Given the description of an element on the screen output the (x, y) to click on. 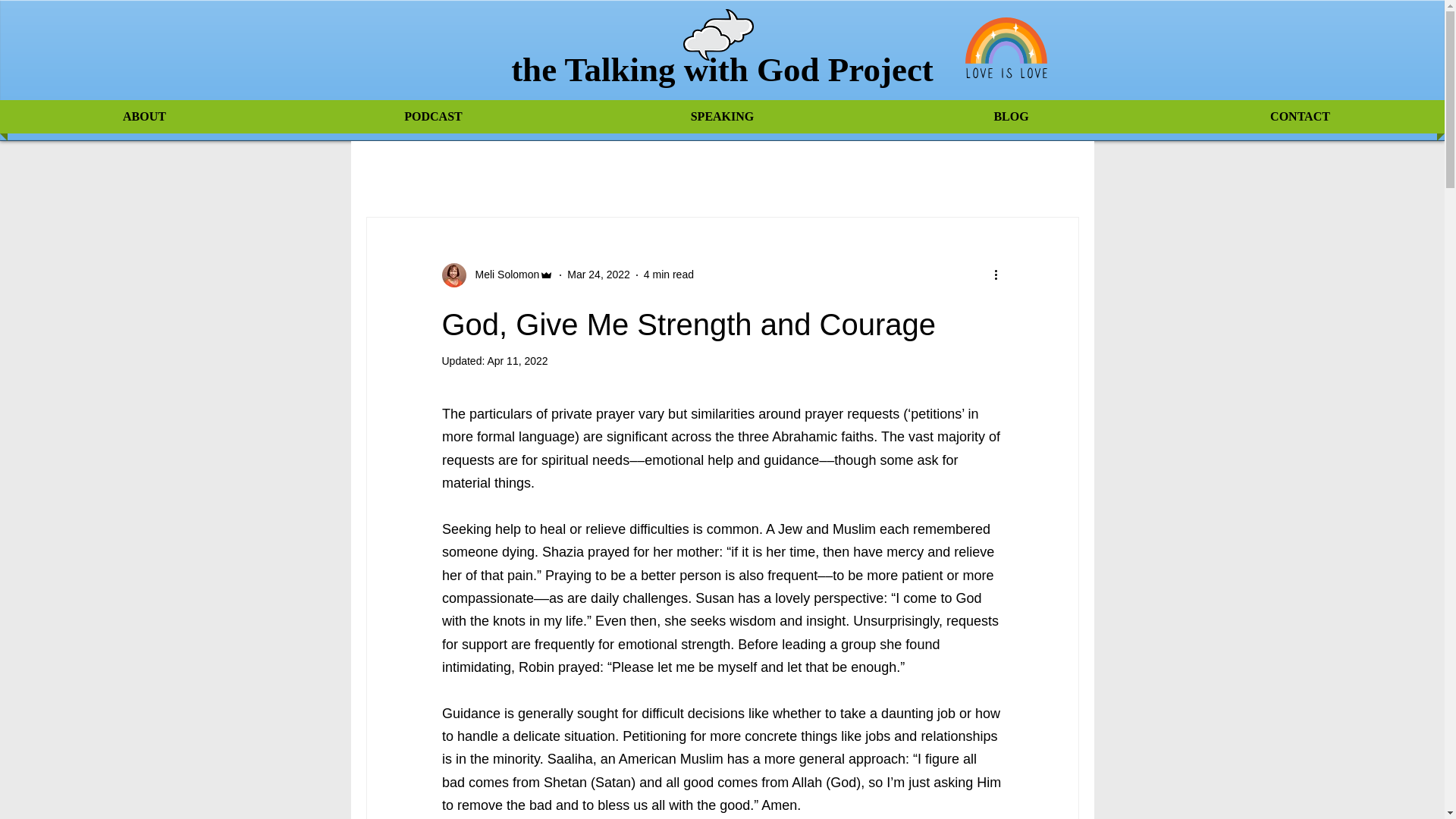
Meli Solomon (501, 274)
4 min read (668, 274)
SPEAKING (722, 116)
BLOG (1011, 116)
ABOUT (144, 116)
the Talking with God Project (722, 69)
PODCAST (433, 116)
Apr 11, 2022 (516, 360)
Mar 24, 2022 (598, 274)
Meli Solomon (497, 274)
